Given the description of an element on the screen output the (x, y) to click on. 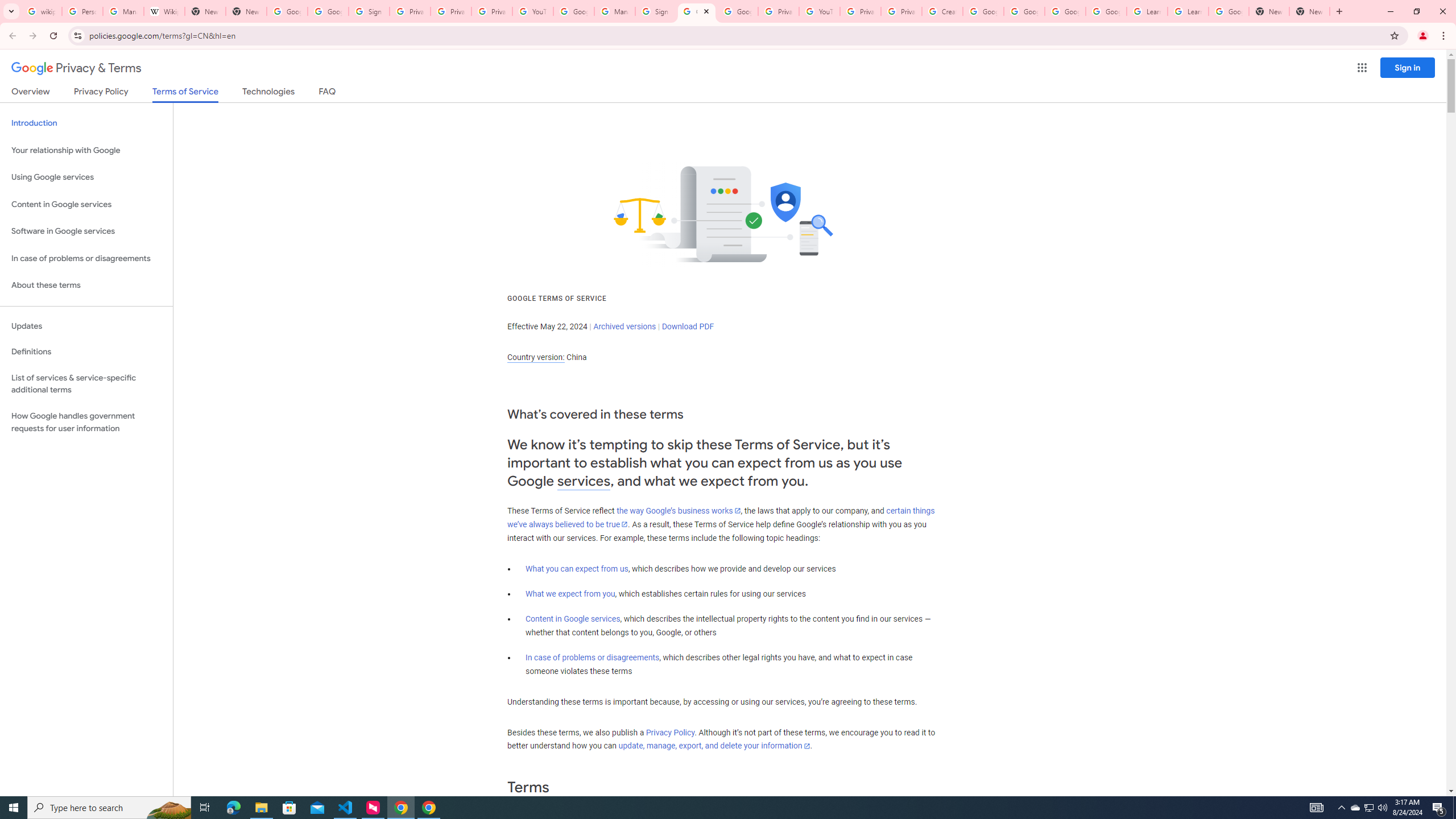
Content in Google services (572, 618)
Personalization & Google Search results - Google Search Help (81, 11)
Definitions (86, 352)
Download PDF (687, 326)
Sign in - Google Accounts (368, 11)
Overview (30, 93)
In case of problems or disagreements (592, 657)
List of services & service-specific additional terms (86, 383)
YouTube (532, 11)
